Given the description of an element on the screen output the (x, y) to click on. 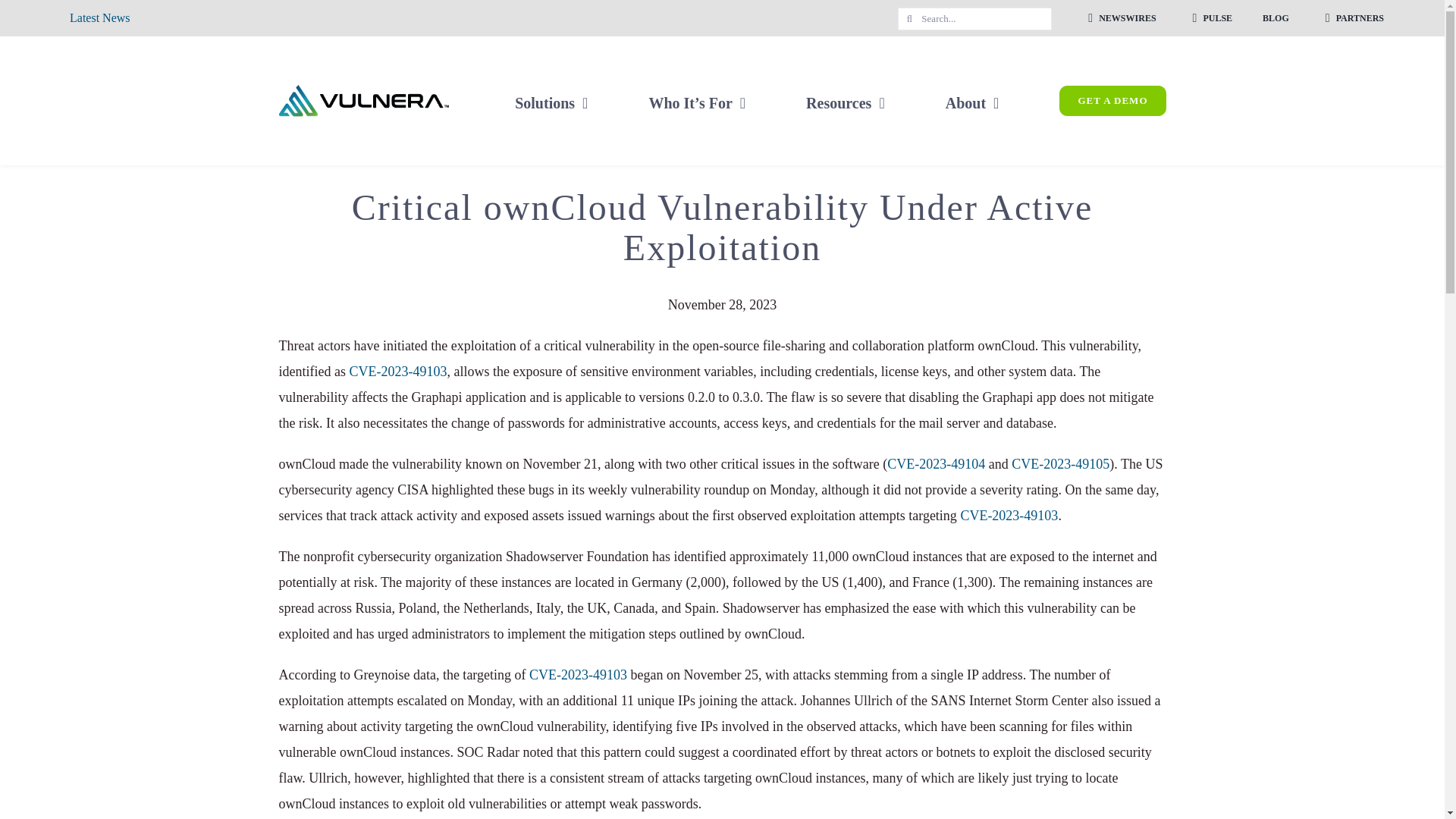
PARTNERS (1351, 18)
PULSE (1209, 18)
Solutions (551, 100)
NEWSWIRES (1118, 18)
